Given the description of an element on the screen output the (x, y) to click on. 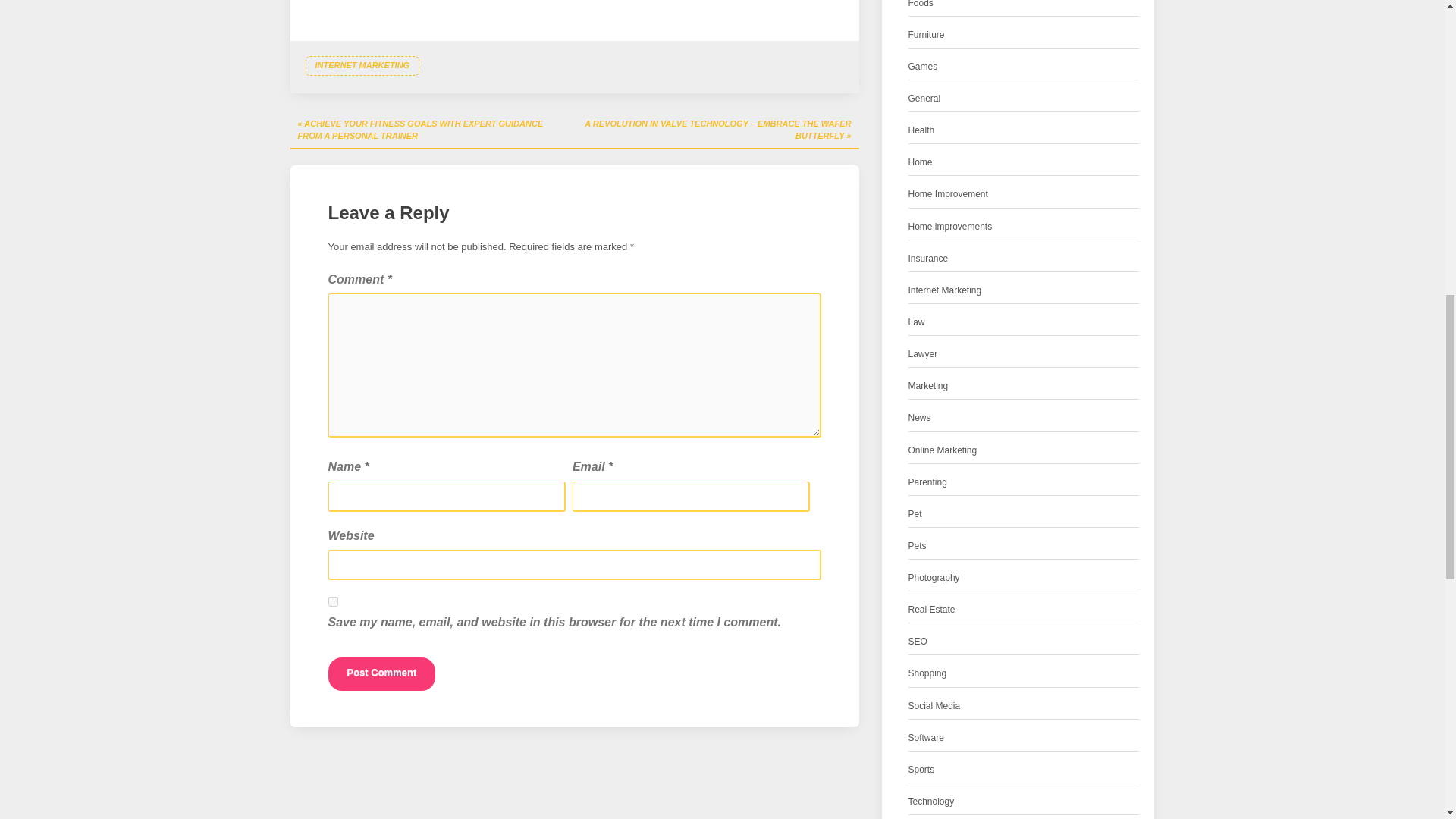
INTERNET MARKETING (361, 66)
Post Comment (381, 674)
yes (332, 601)
Games (922, 66)
Post Comment (381, 674)
General (924, 98)
Foods (920, 5)
Furniture (926, 35)
